Given the description of an element on the screen output the (x, y) to click on. 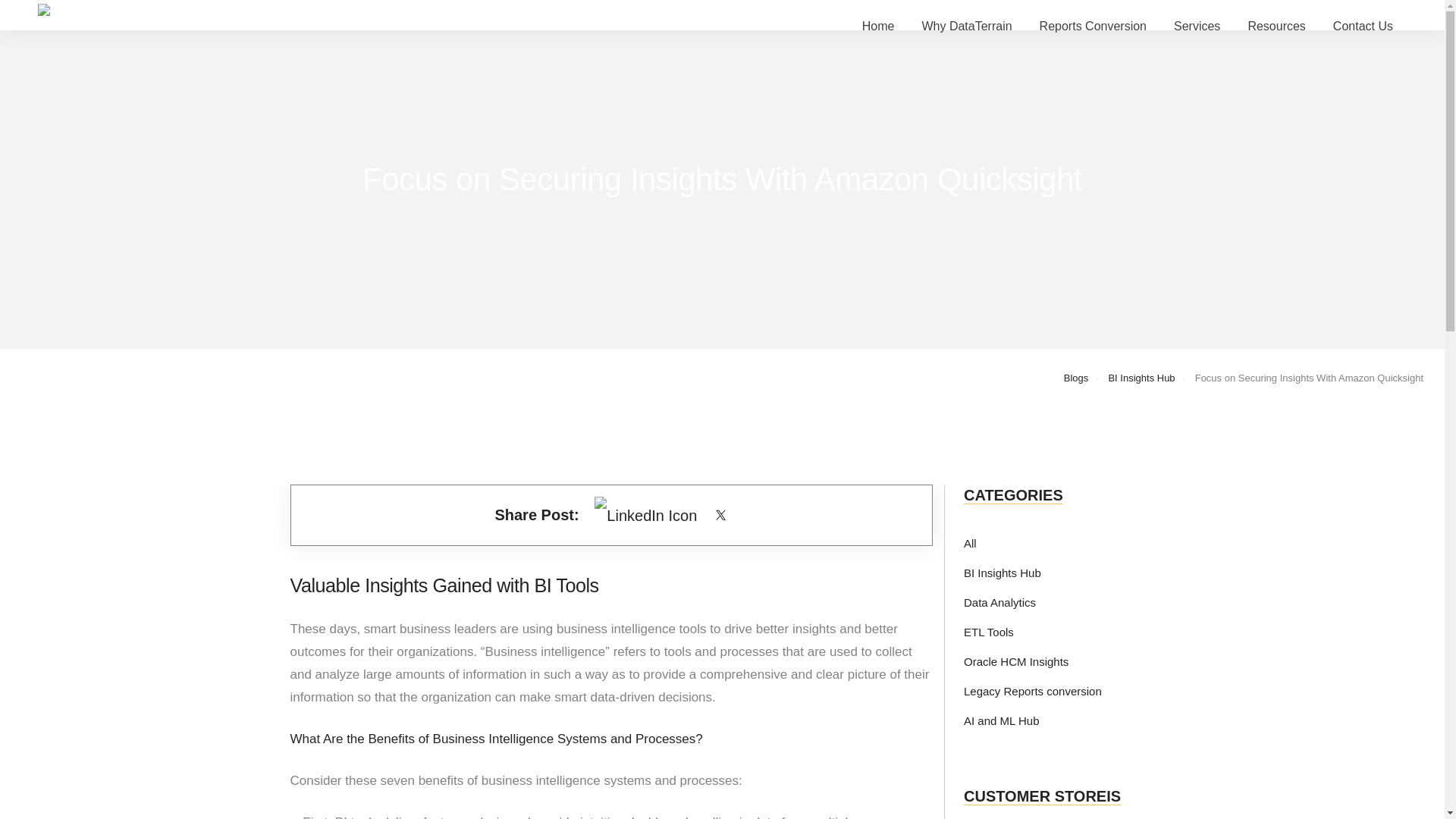
BI Insights Hub (1141, 378)
Blogs (1076, 378)
Why DataTerrain (966, 26)
BI Insights Hub (1002, 572)
Reports Conversion (1093, 26)
Resources (1275, 26)
Data Analytics (999, 602)
All (969, 543)
ETL Tools (988, 632)
Contact Us (1363, 26)
